Given the description of an element on the screen output the (x, y) to click on. 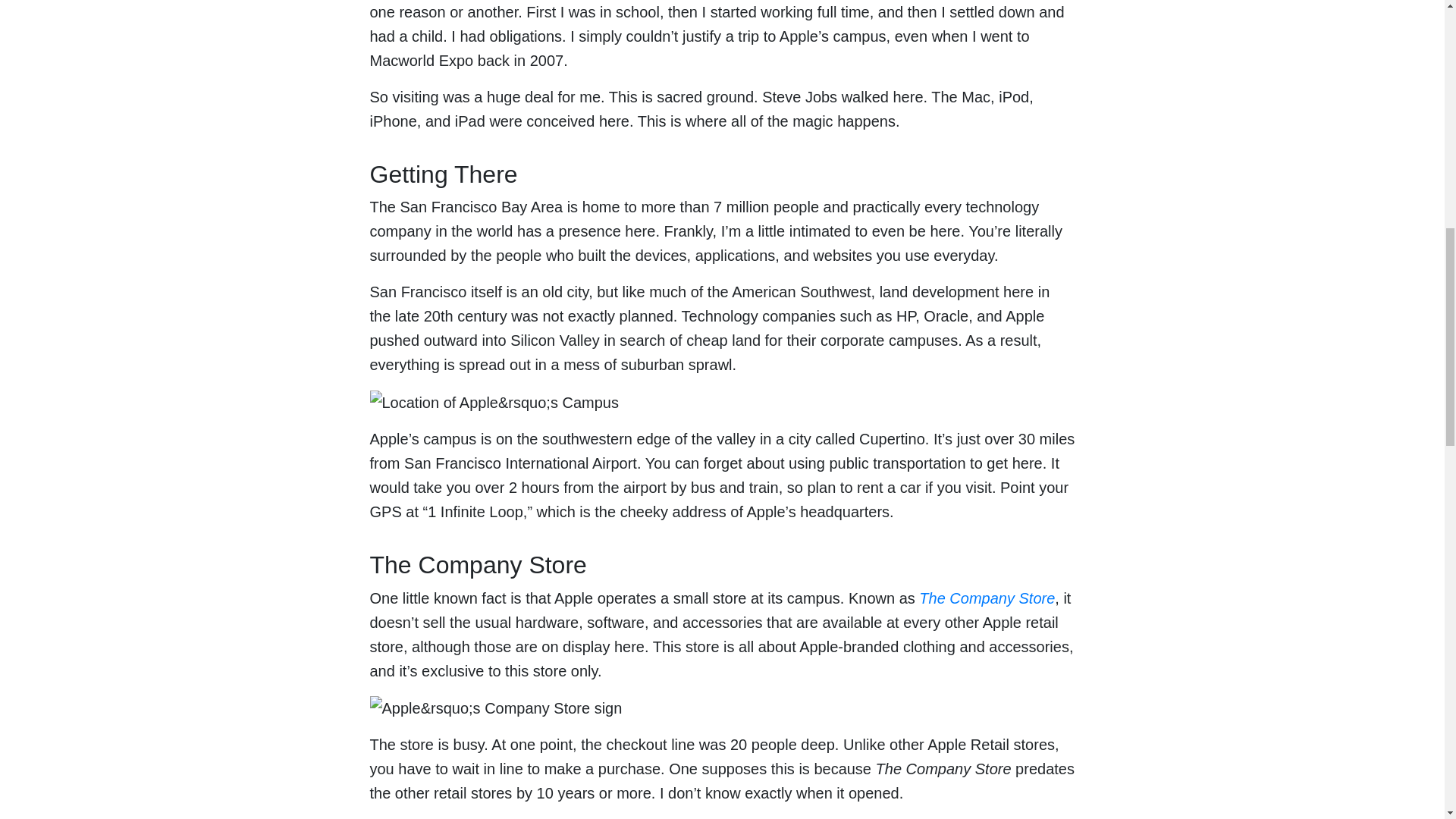
The Company Store (986, 597)
